Given the description of an element on the screen output the (x, y) to click on. 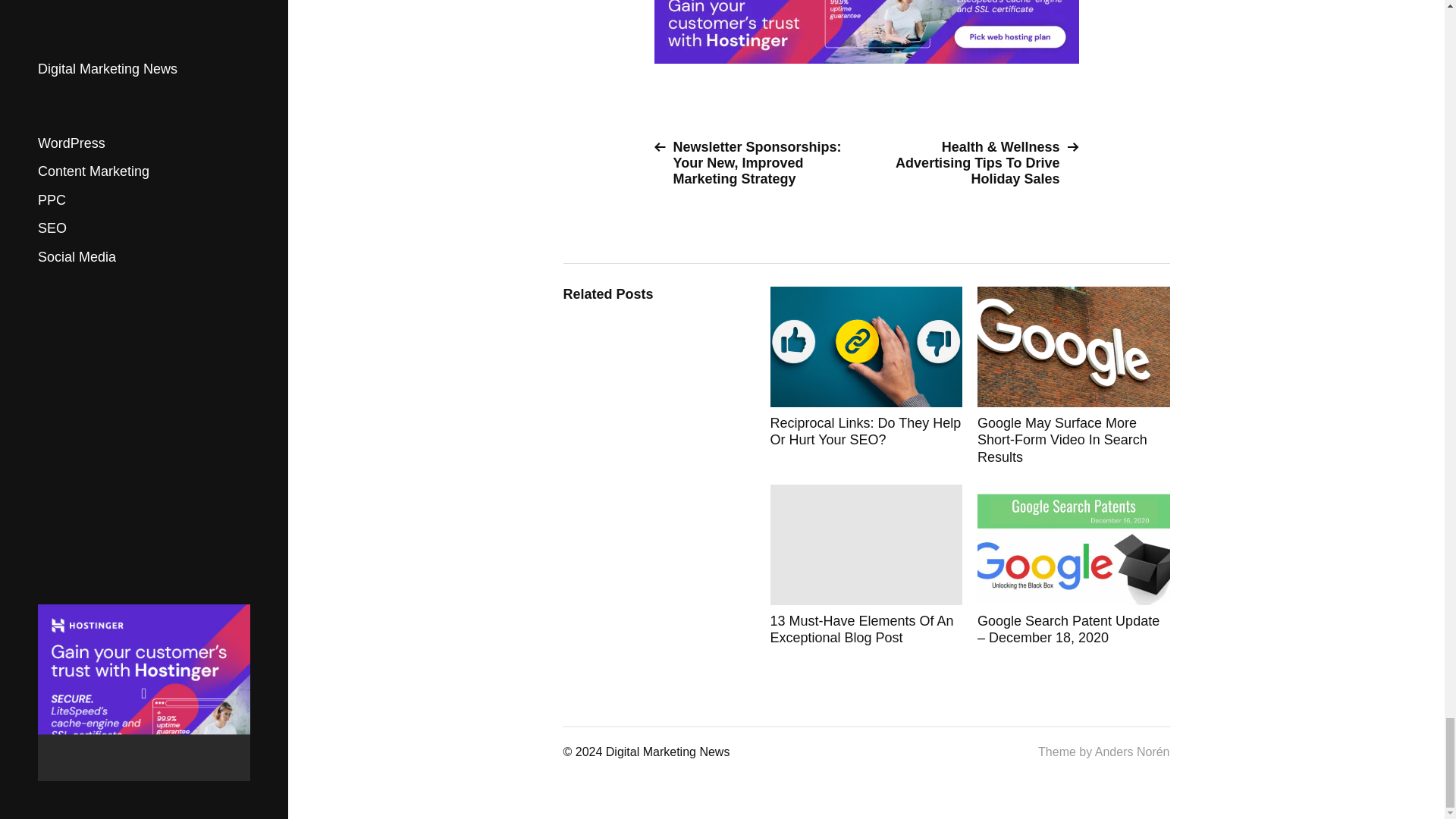
Google May Surface More Short-Form Video In Search Results (1073, 376)
Reciprocal Links: Do They Help Or Hurt Your SEO? (866, 376)
13 Must-Have Elements Of An Exceptional Blog Post (866, 565)
Digital Marketing News (667, 752)
